Given the description of an element on the screen output the (x, y) to click on. 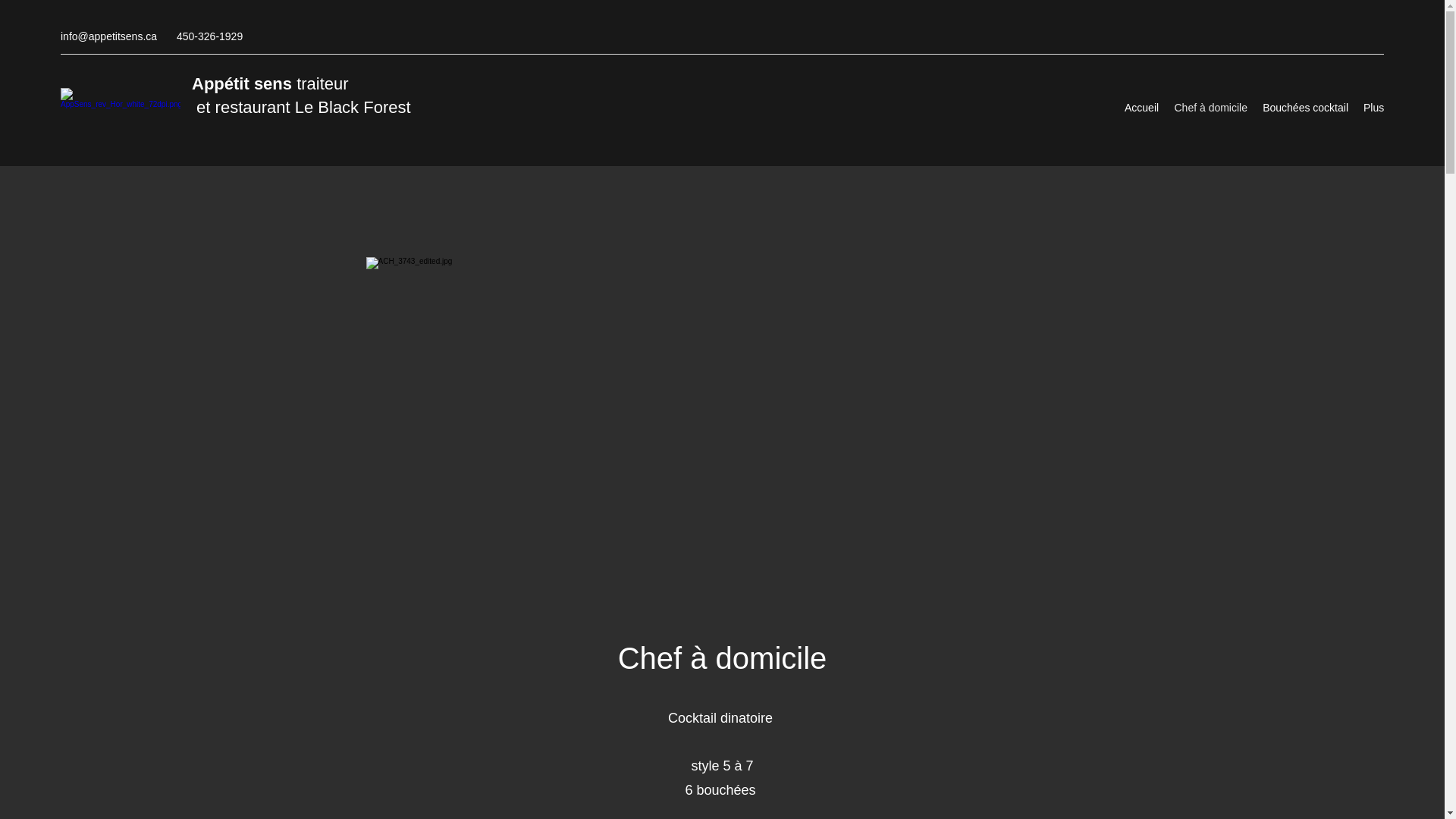
info@appetitsens.ca Element type: text (108, 36)
Accueil Element type: text (1141, 107)
